Given the description of an element on the screen output the (x, y) to click on. 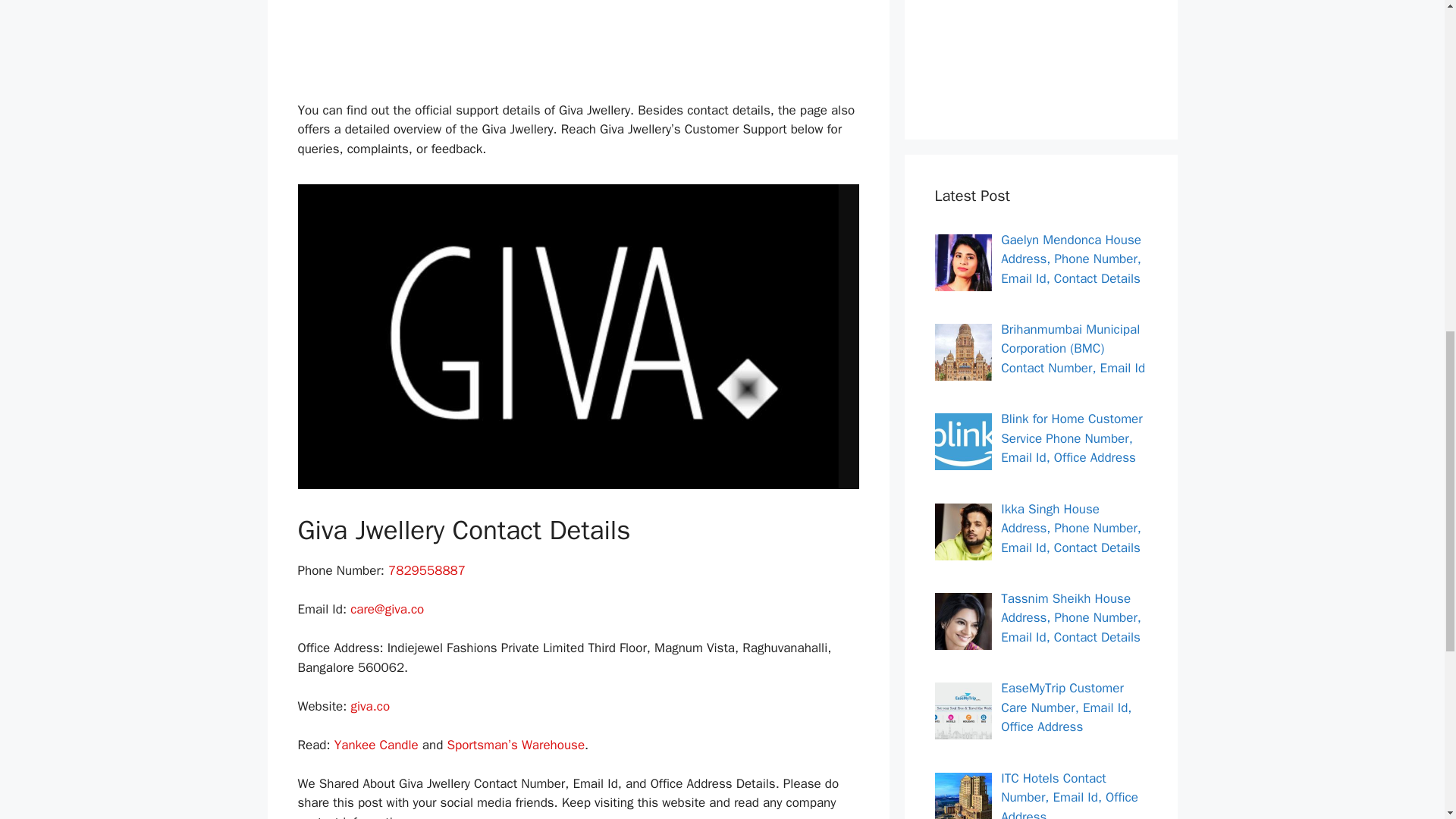
Advertisement (592, 47)
giva.co (370, 706)
7829558887 (426, 570)
Advertisement (1040, 51)
Yankee Candle (376, 744)
